Given the description of an element on the screen output the (x, y) to click on. 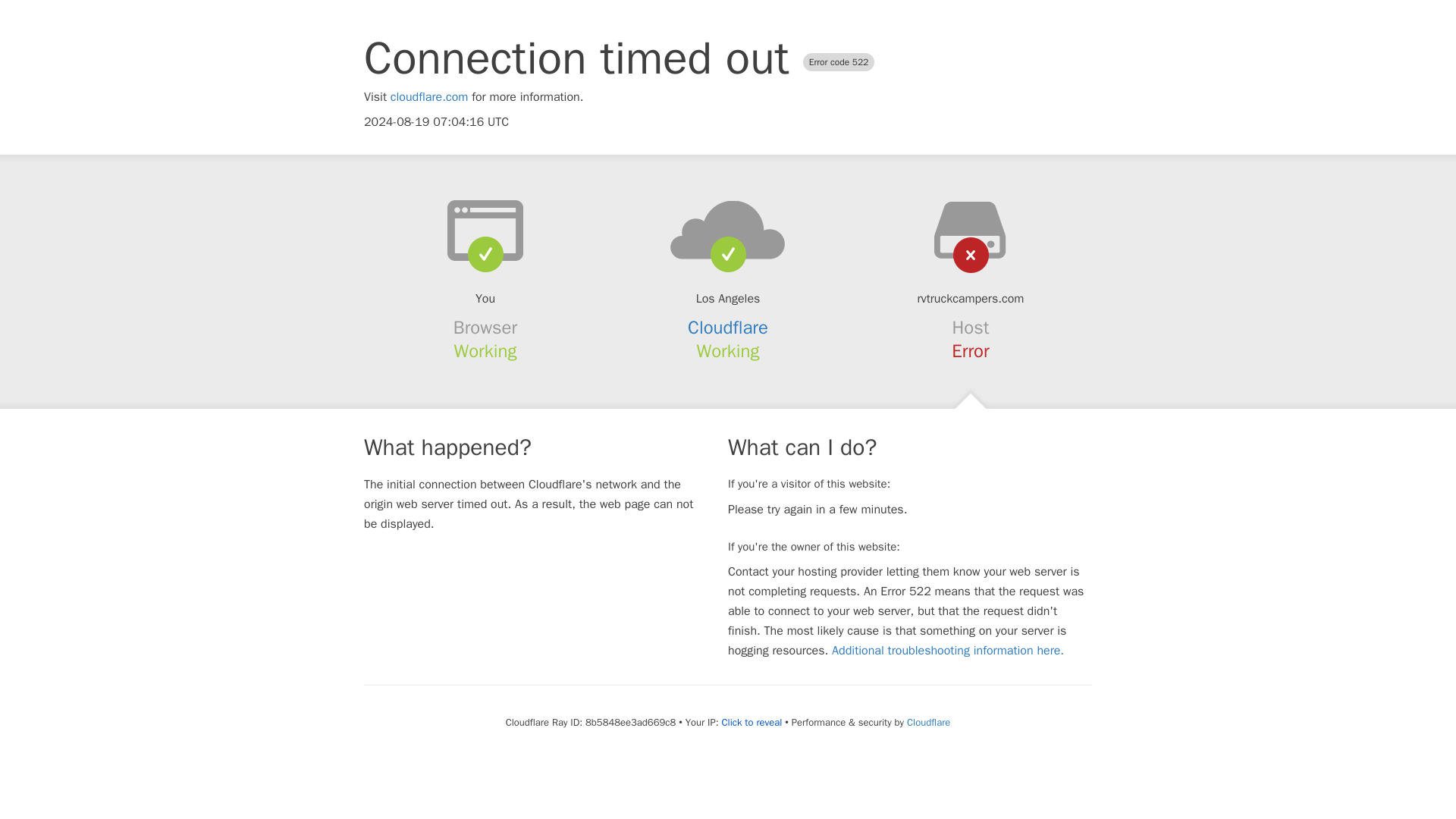
Cloudflare (727, 327)
cloudflare.com (429, 96)
Additional troubleshooting information here. (947, 650)
Click to reveal (750, 722)
Cloudflare (928, 721)
